Given the description of an element on the screen output the (x, y) to click on. 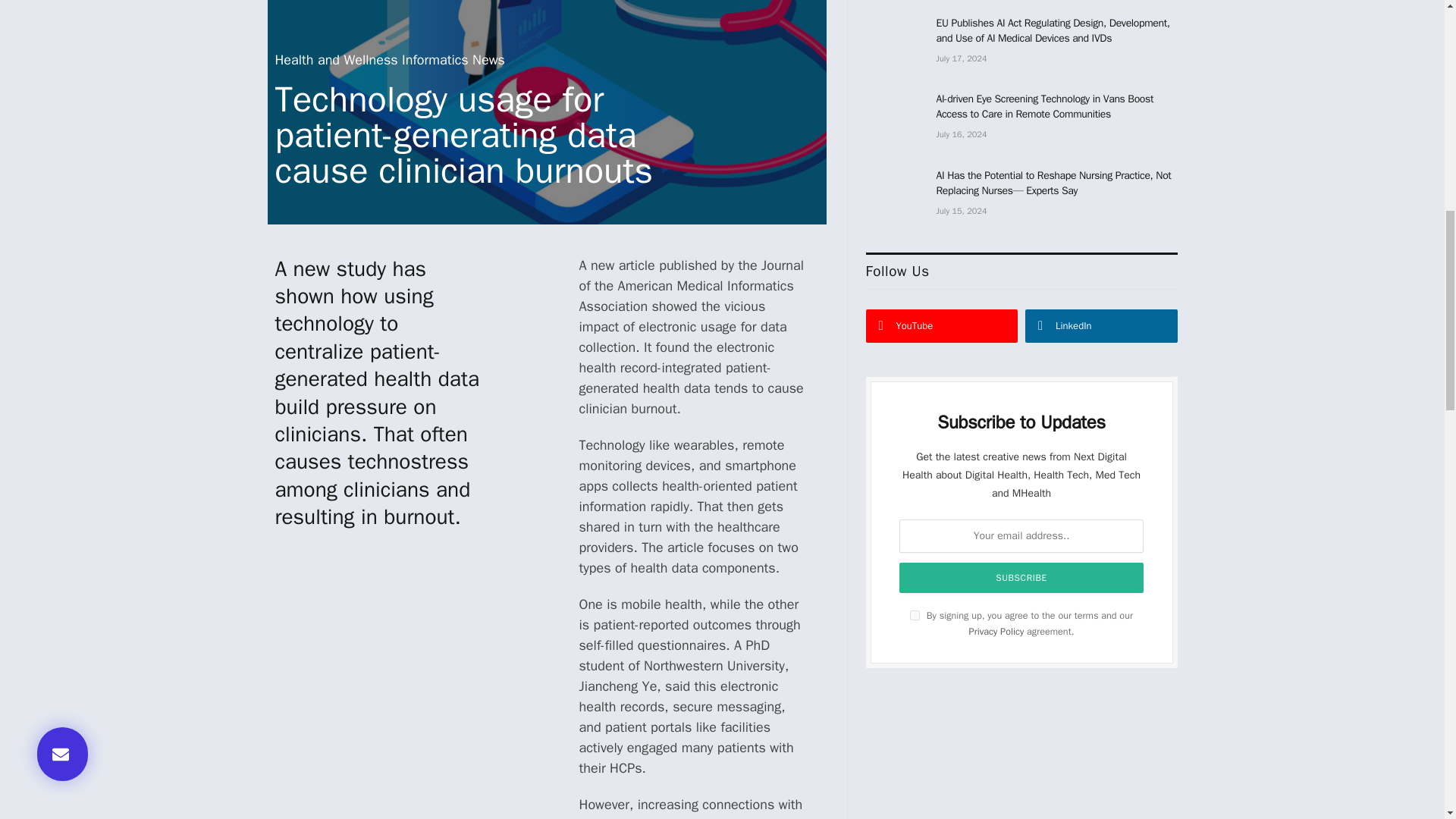
Subscribe (1020, 577)
on (915, 614)
